Given the description of an element on the screen output the (x, y) to click on. 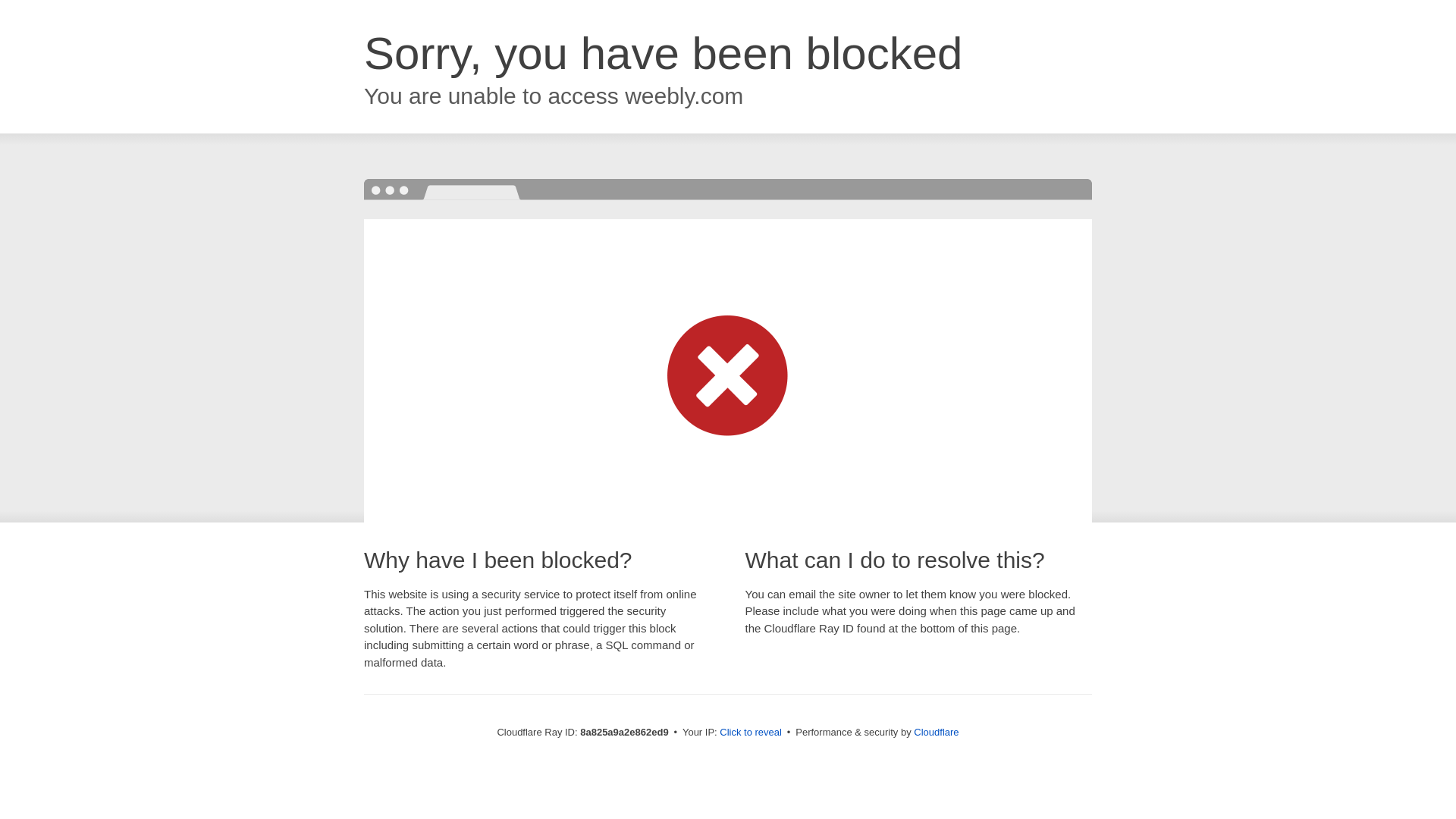
Cloudflare (936, 731)
Click to reveal (750, 732)
